Given the description of an element on the screen output the (x, y) to click on. 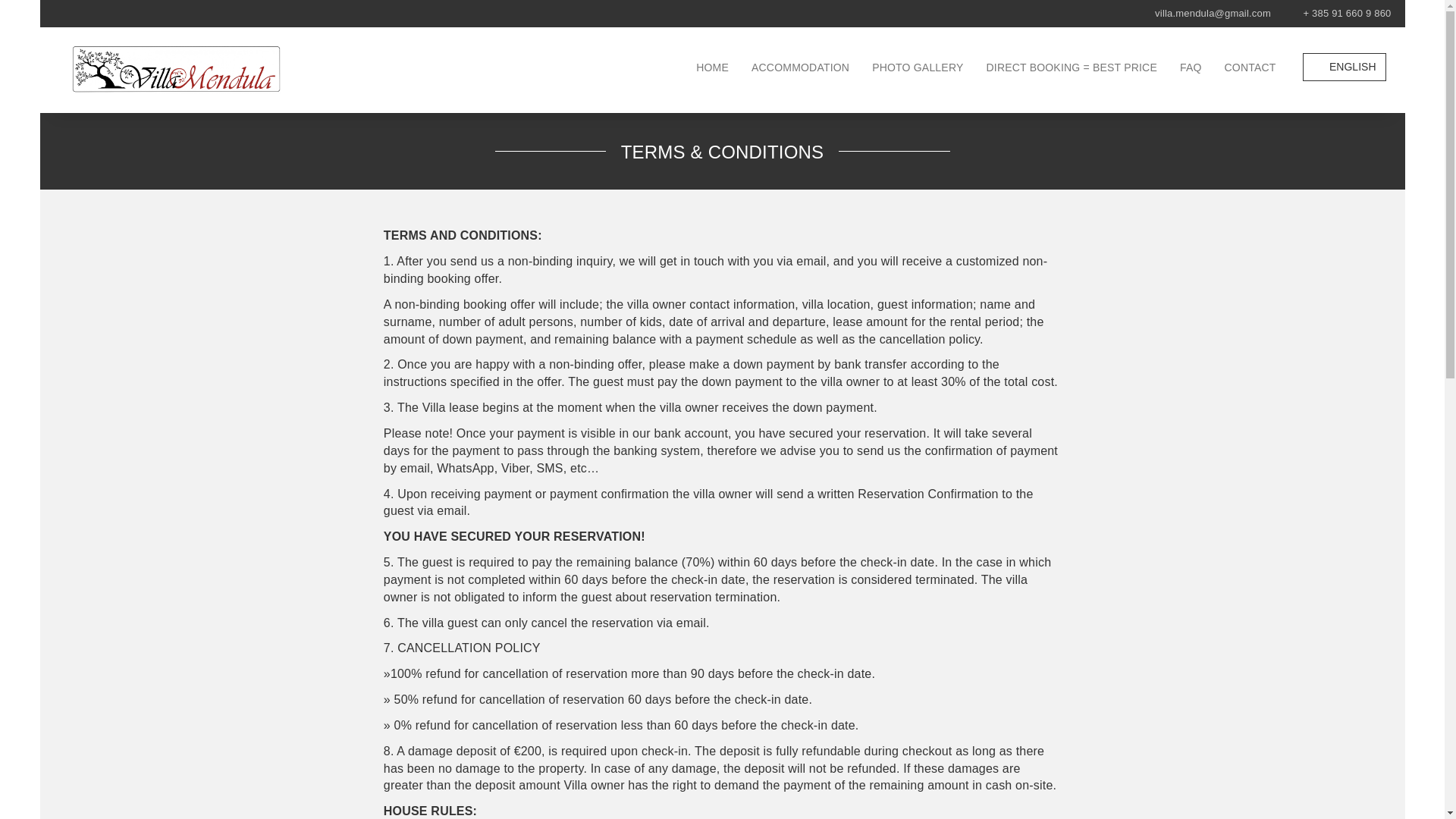
PHOTO GALLERY (917, 67)
FAQ (1190, 67)
ENGLISH (1344, 67)
CONTACT (1249, 67)
HOME (711, 67)
ACCOMMODATION (799, 67)
